Given the description of an element on the screen output the (x, y) to click on. 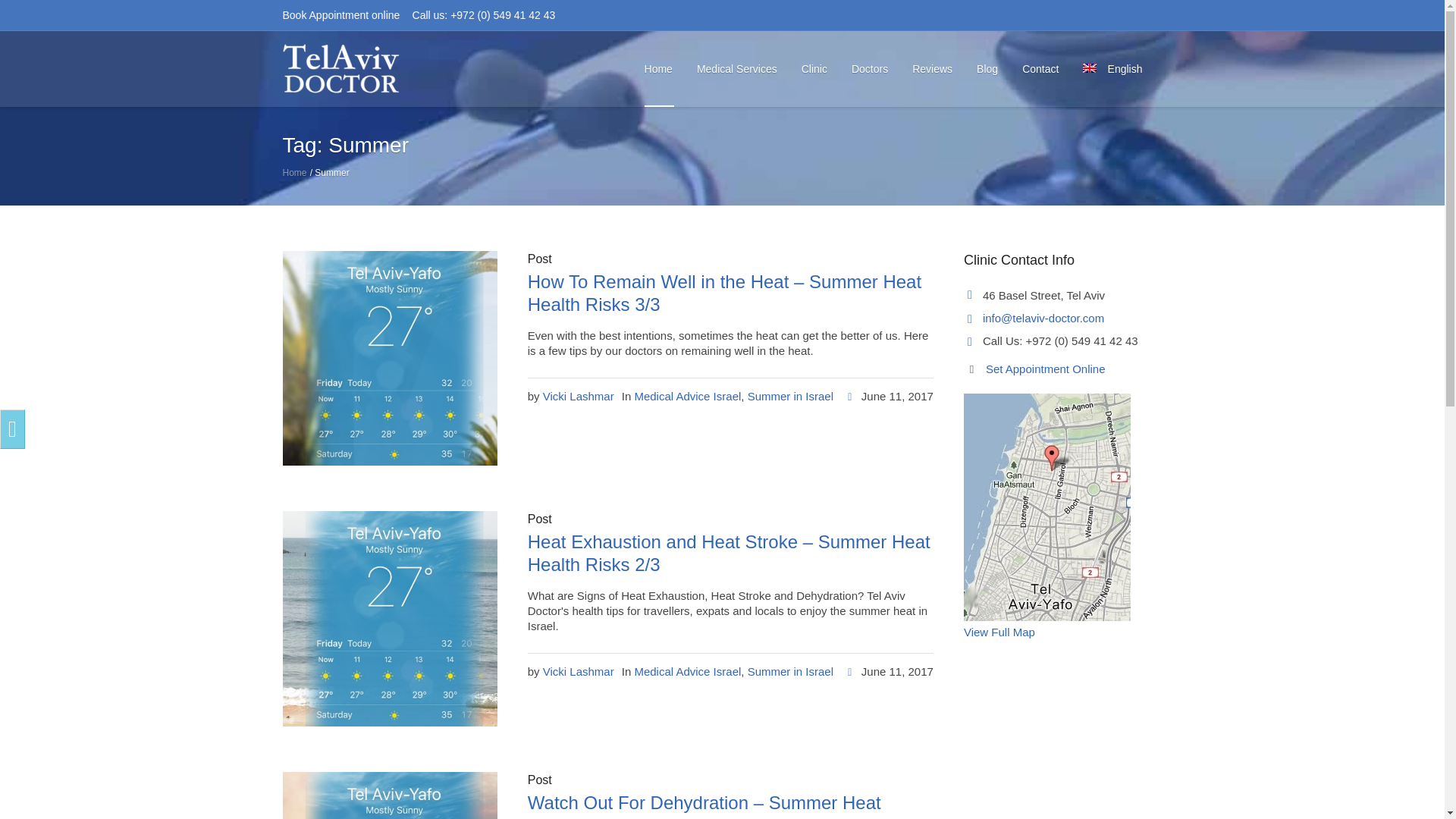
June 11, 2017 (888, 396)
English (1115, 69)
Book Appointment online (340, 14)
Heat Stroke Shower Cold Health Tips (389, 358)
Posts by Vicki Lashmar (578, 395)
English (1115, 69)
Medical Services (736, 69)
heat stroke health tips (389, 618)
